Given the description of an element on the screen output the (x, y) to click on. 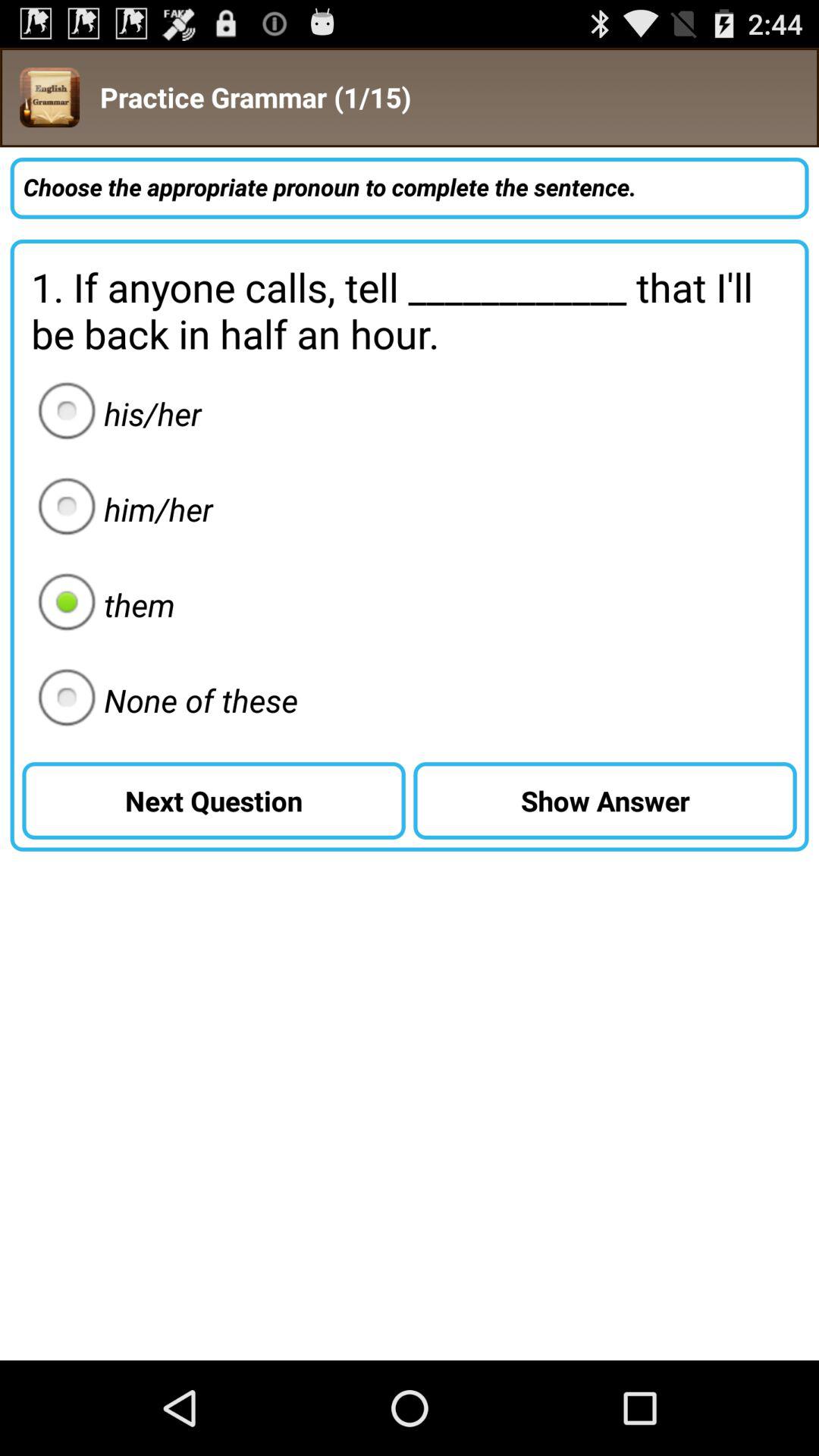
select the radio button below them item (163, 699)
